Given the description of an element on the screen output the (x, y) to click on. 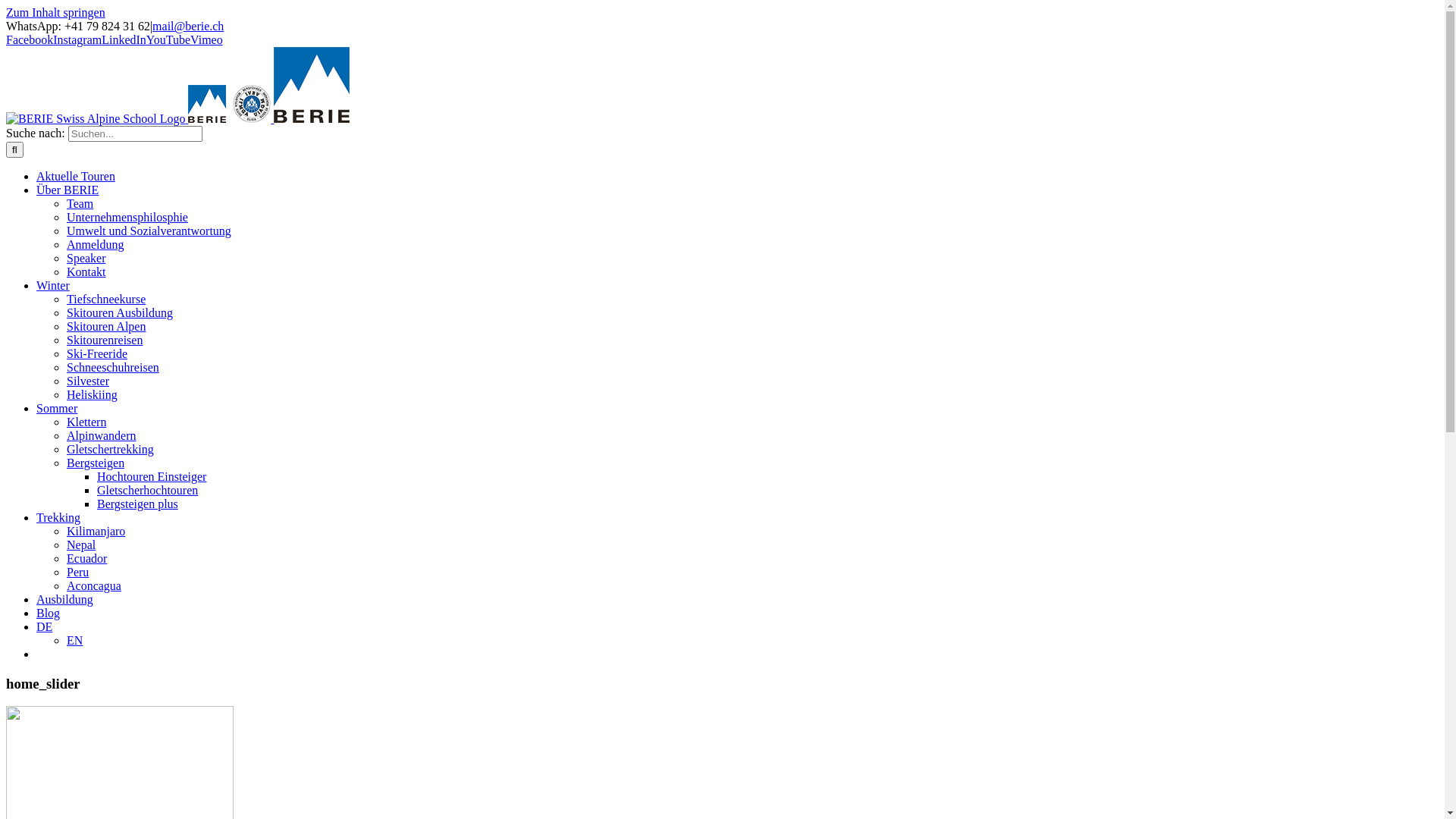
Tiefschneekurse Element type: text (105, 298)
Silvester Element type: text (87, 380)
EN Element type: text (74, 639)
Vimeo Element type: text (206, 39)
Peru Element type: text (77, 571)
Nepal Element type: text (80, 544)
Heliskiing Element type: text (91, 394)
Skitouren Alpen Element type: text (105, 326)
Skitourenreisen Element type: text (104, 339)
Blog Element type: text (47, 612)
Gletscherhochtouren Element type: text (147, 489)
YouTube Element type: text (168, 39)
Skitouren Ausbildung Element type: text (119, 312)
Instagram Element type: text (77, 39)
Gletschertrekking Element type: text (109, 448)
Bergsteigen plus Element type: text (137, 503)
Winter Element type: text (52, 285)
Alpinwandern Element type: text (101, 435)
Klettern Element type: text (86, 421)
Ausbildung Element type: text (64, 599)
Ski-Freeride Element type: text (96, 353)
Zum Inhalt springen Element type: text (55, 12)
Schneeschuhreisen Element type: text (112, 366)
Umwelt und Sozialverantwortung Element type: text (148, 230)
Aconcagua Element type: text (93, 585)
Kontakt Element type: text (86, 271)
mail@berie.ch Element type: text (187, 25)
Ecuador Element type: text (86, 558)
Kilimanjaro Element type: text (95, 530)
DE Element type: text (44, 626)
Speaker Element type: text (86, 257)
Anmeldung Element type: text (95, 244)
Sommer Element type: text (56, 407)
Bergsteigen Element type: text (95, 462)
Unternehmensphilosphie Element type: text (127, 216)
LinkedIn Element type: text (123, 39)
Trekking Element type: text (58, 517)
Facebook Element type: text (29, 39)
Hochtouren Einsteiger Element type: text (151, 476)
Aktuelle Touren Element type: text (75, 175)
Team Element type: text (79, 203)
